Given the description of an element on the screen output the (x, y) to click on. 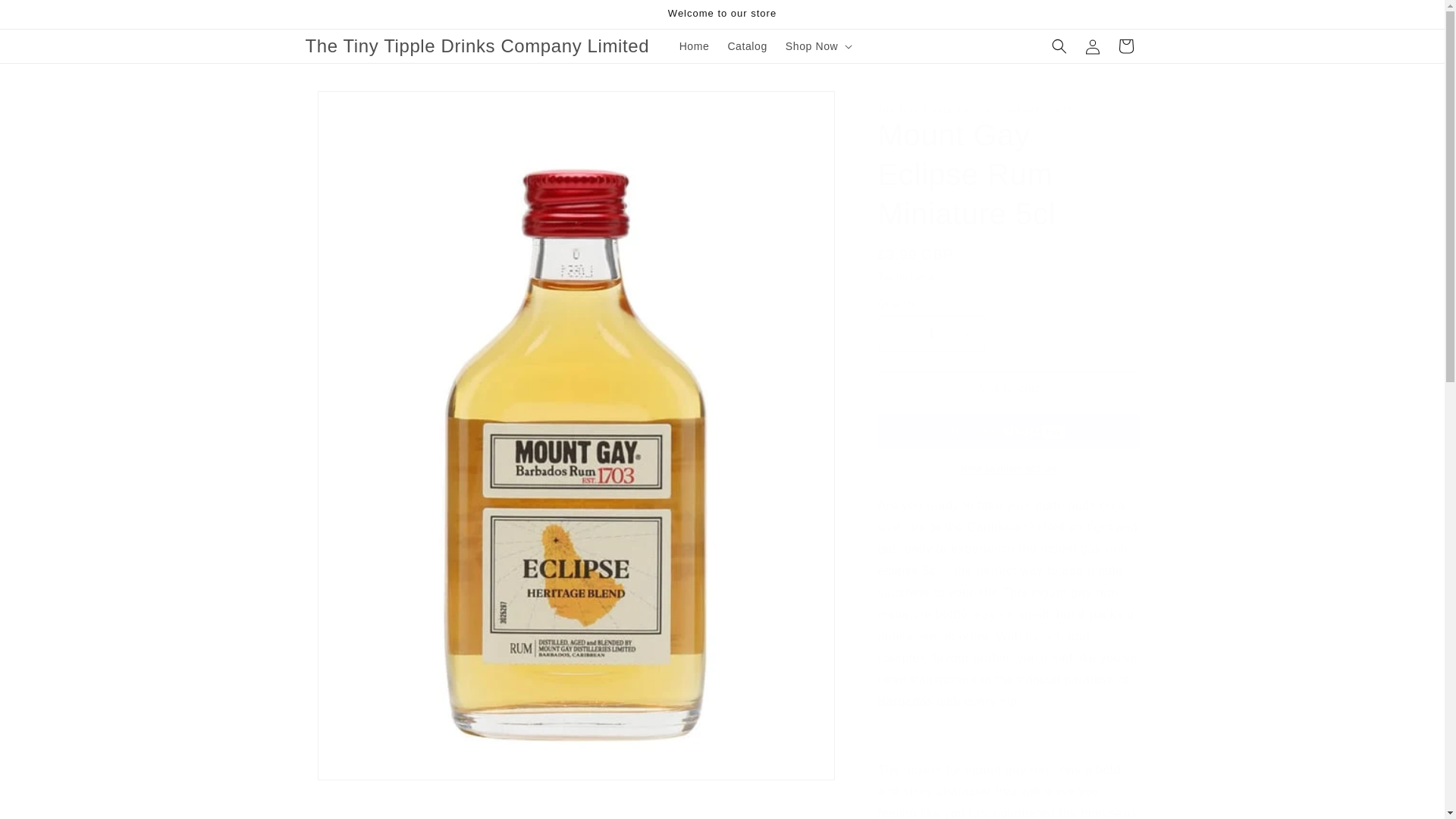
Skip to product information (350, 108)
Increase quantity for Mount Gay Eclipse Rum Miniature 5cl (967, 334)
1 (931, 334)
The Tiny Tipple Drinks Company Limited (477, 46)
More payment options (1008, 468)
Catalog (746, 46)
Skip to content (45, 17)
Decrease quantity for Mount Gay Eclipse Rum Miniature 5cl (894, 334)
Add to cart (1008, 388)
Cart (1124, 46)
Home (694, 46)
Log in (1091, 46)
